Given the description of an element on the screen output the (x, y) to click on. 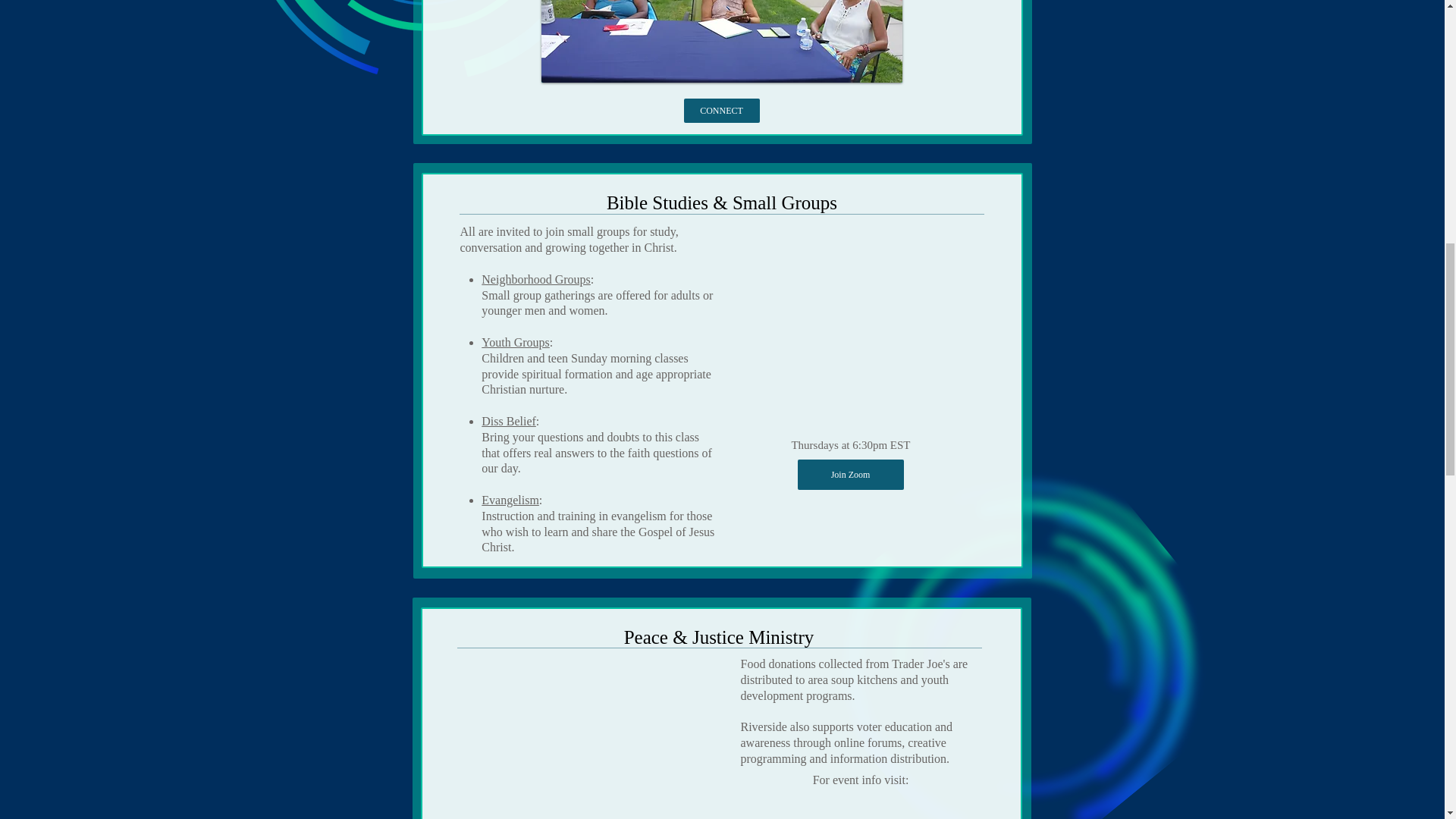
Join Zoom (850, 474)
CONNECT (722, 110)
